Given the description of an element on the screen output the (x, y) to click on. 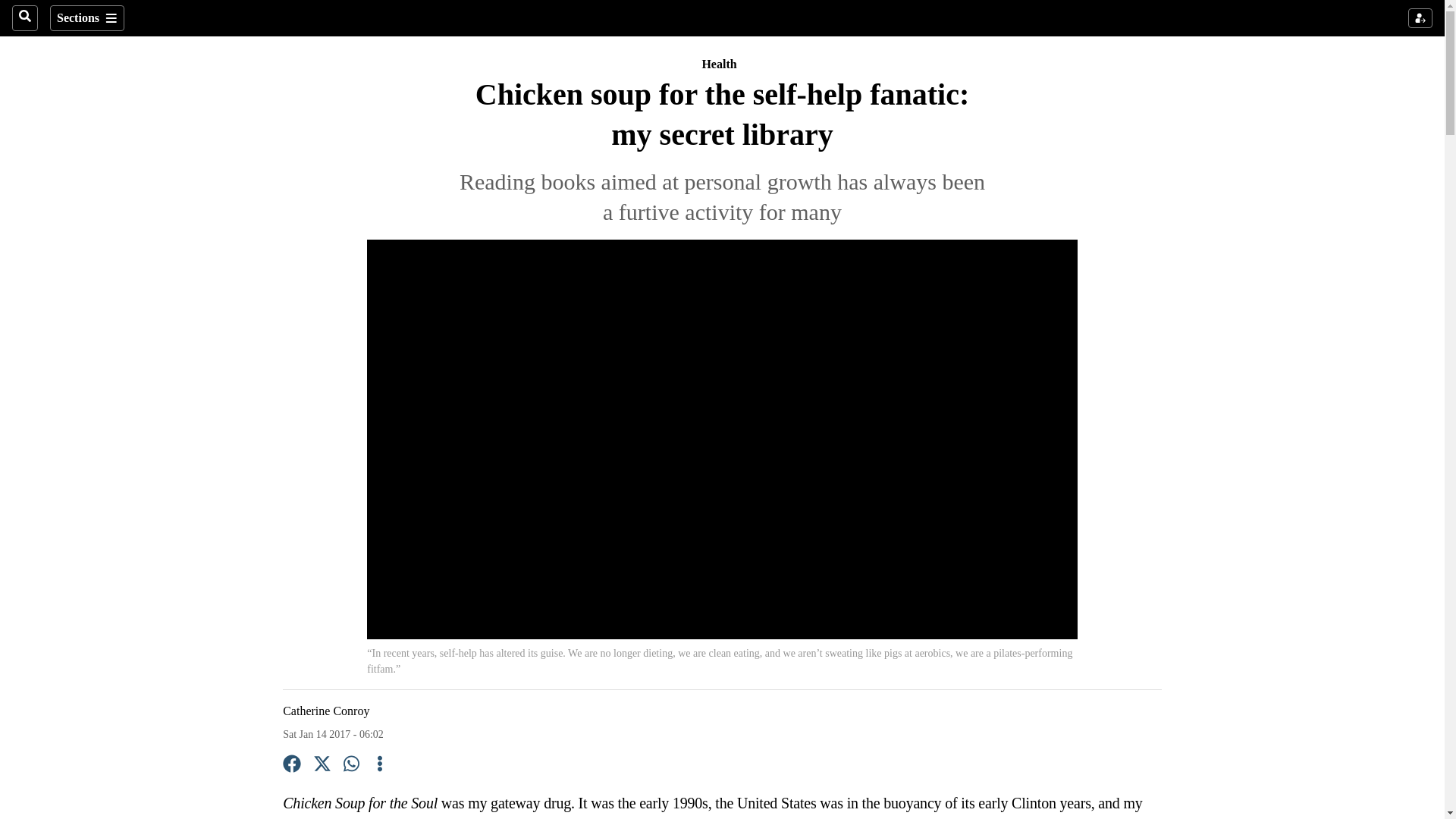
Sections (86, 17)
